Given the description of an element on the screen output the (x, y) to click on. 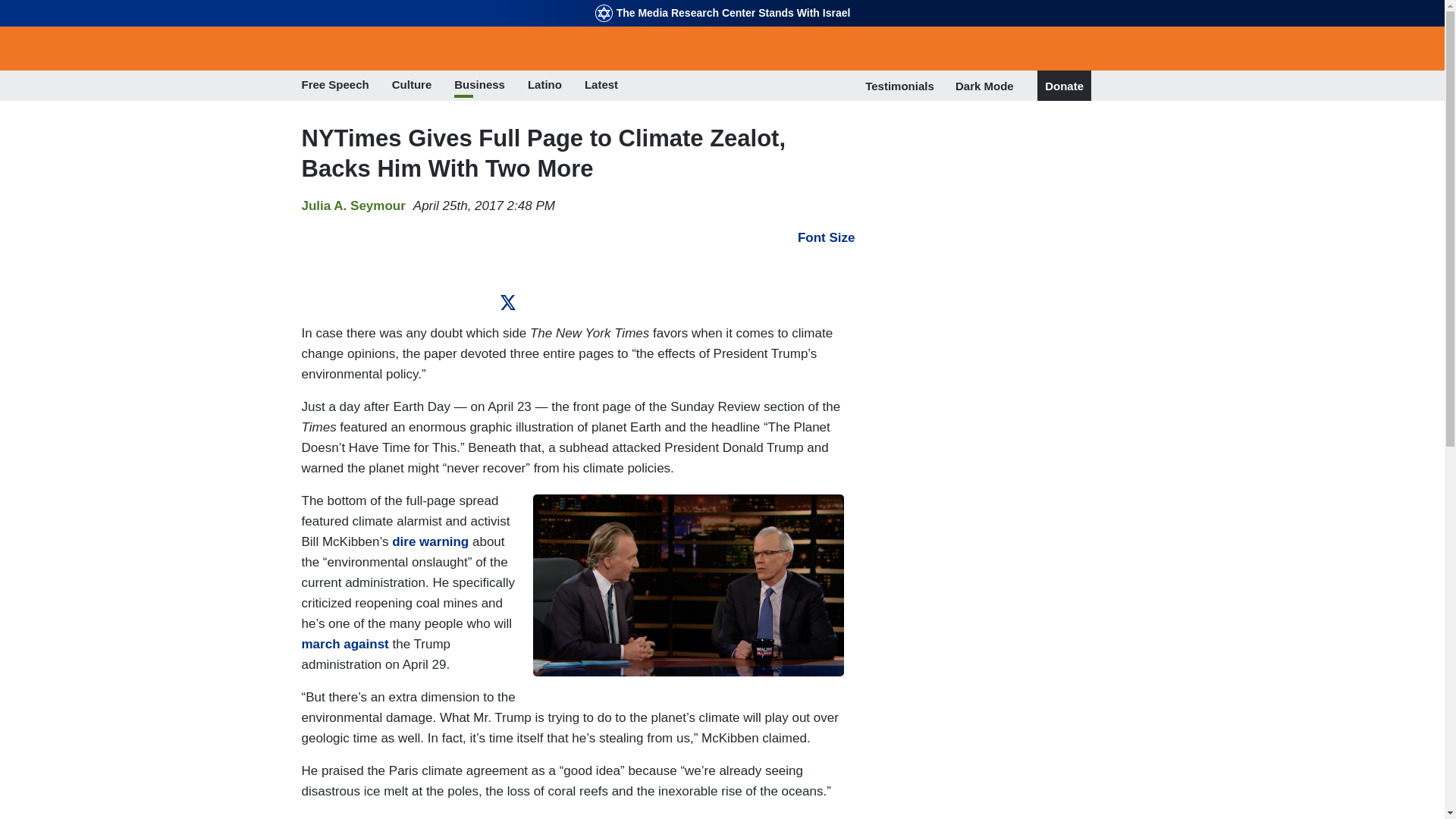
Testimonials (899, 85)
Latino (544, 85)
Free Speech (335, 85)
Skip to main content (721, 1)
Culture (411, 85)
Business (479, 85)
Latest (601, 85)
Dark Mode (984, 85)
Donate (1064, 86)
